Given the description of an element on the screen output the (x, y) to click on. 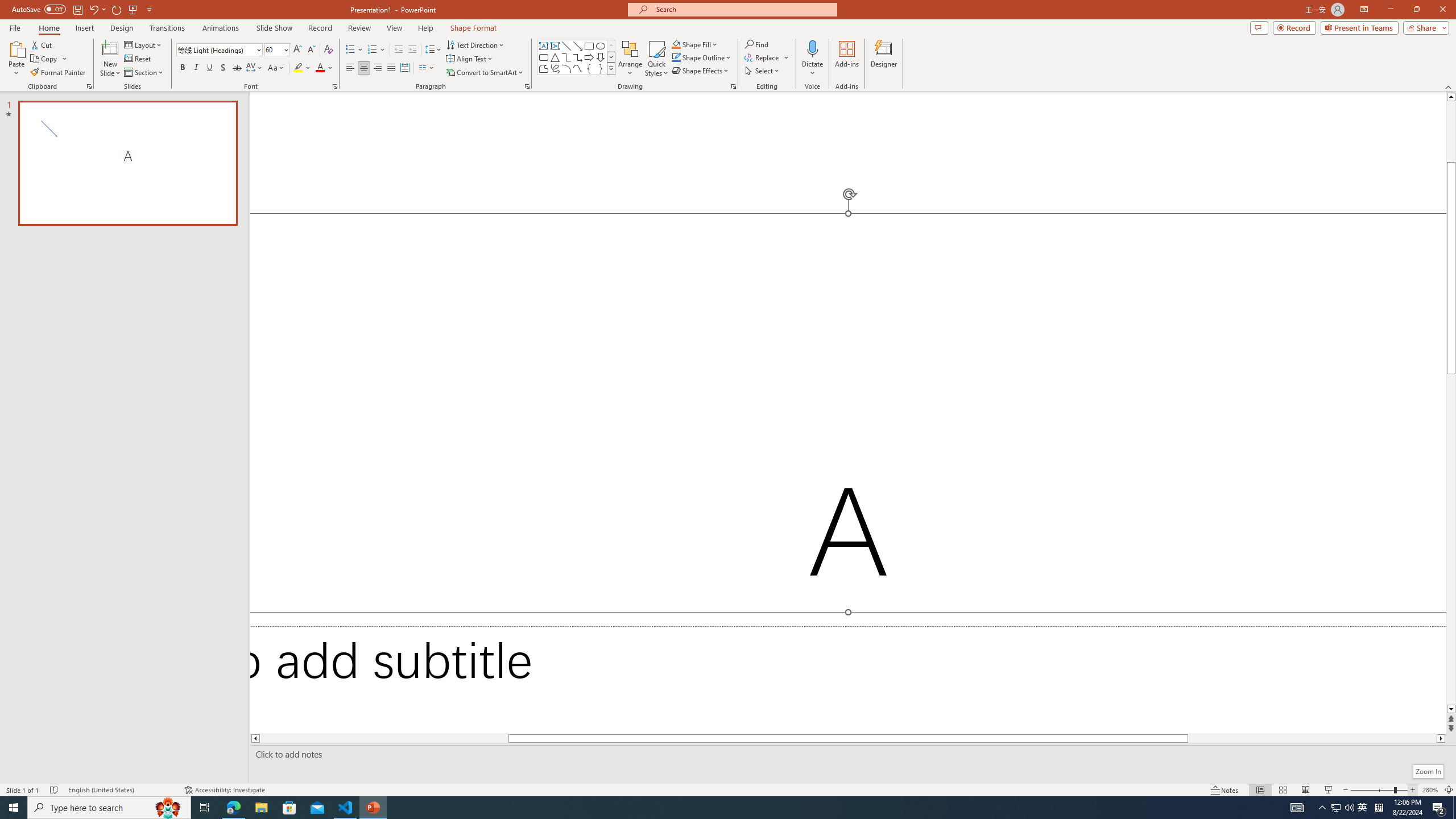
Zoom 280% (1430, 790)
